Given the description of an element on the screen output the (x, y) to click on. 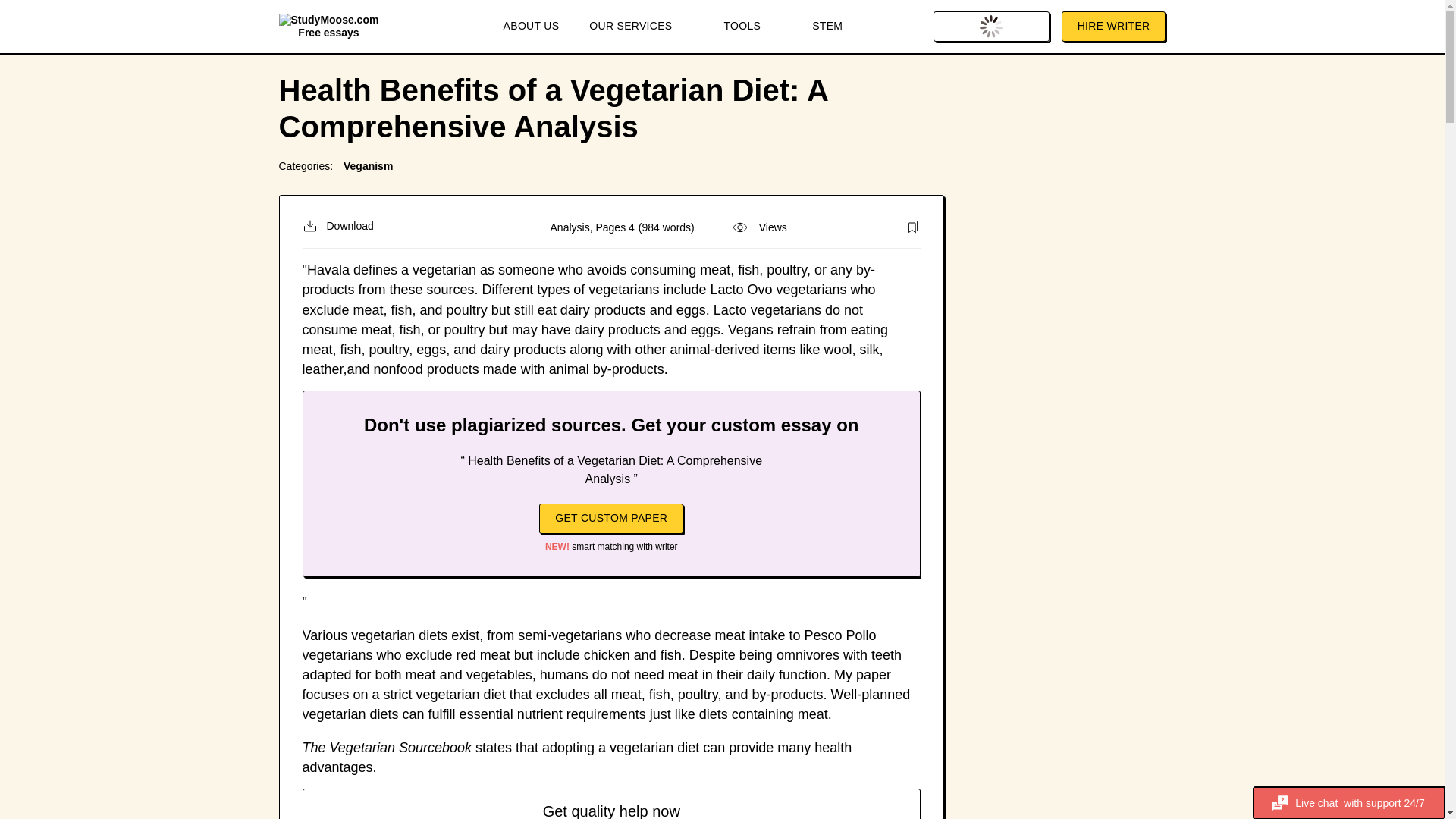
STEM (826, 26)
ABOUT US (531, 26)
TOOLS (751, 26)
Free essays (328, 26)
OUR SERVICES (640, 26)
Veganism (368, 165)
GET CUSTOM PAPER (610, 518)
HIRE WRITER (1113, 26)
Download (336, 225)
